Given the description of an element on the screen output the (x, y) to click on. 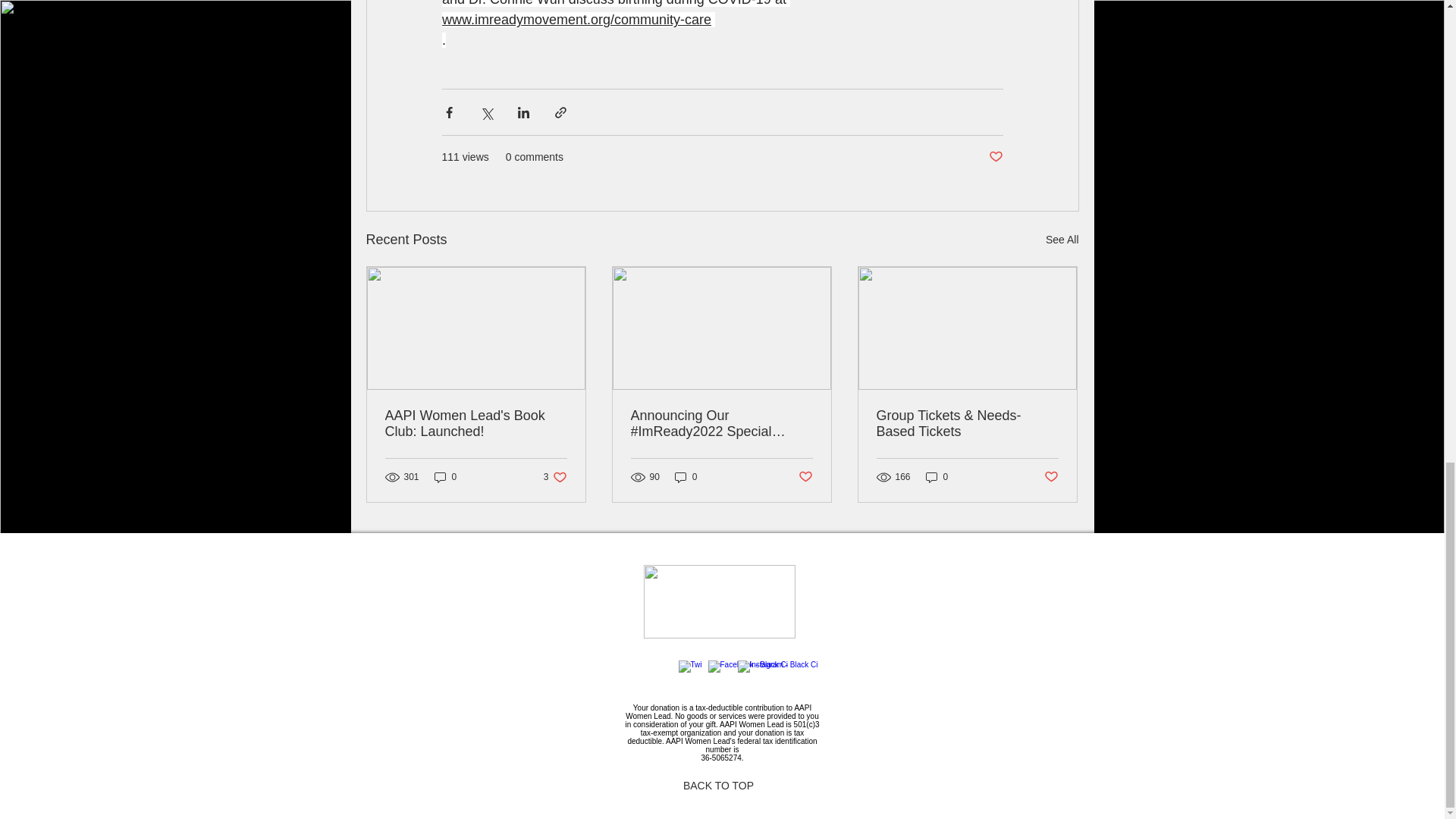
Post not marked as liked (995, 157)
See All (1061, 239)
